Given the description of an element on the screen output the (x, y) to click on. 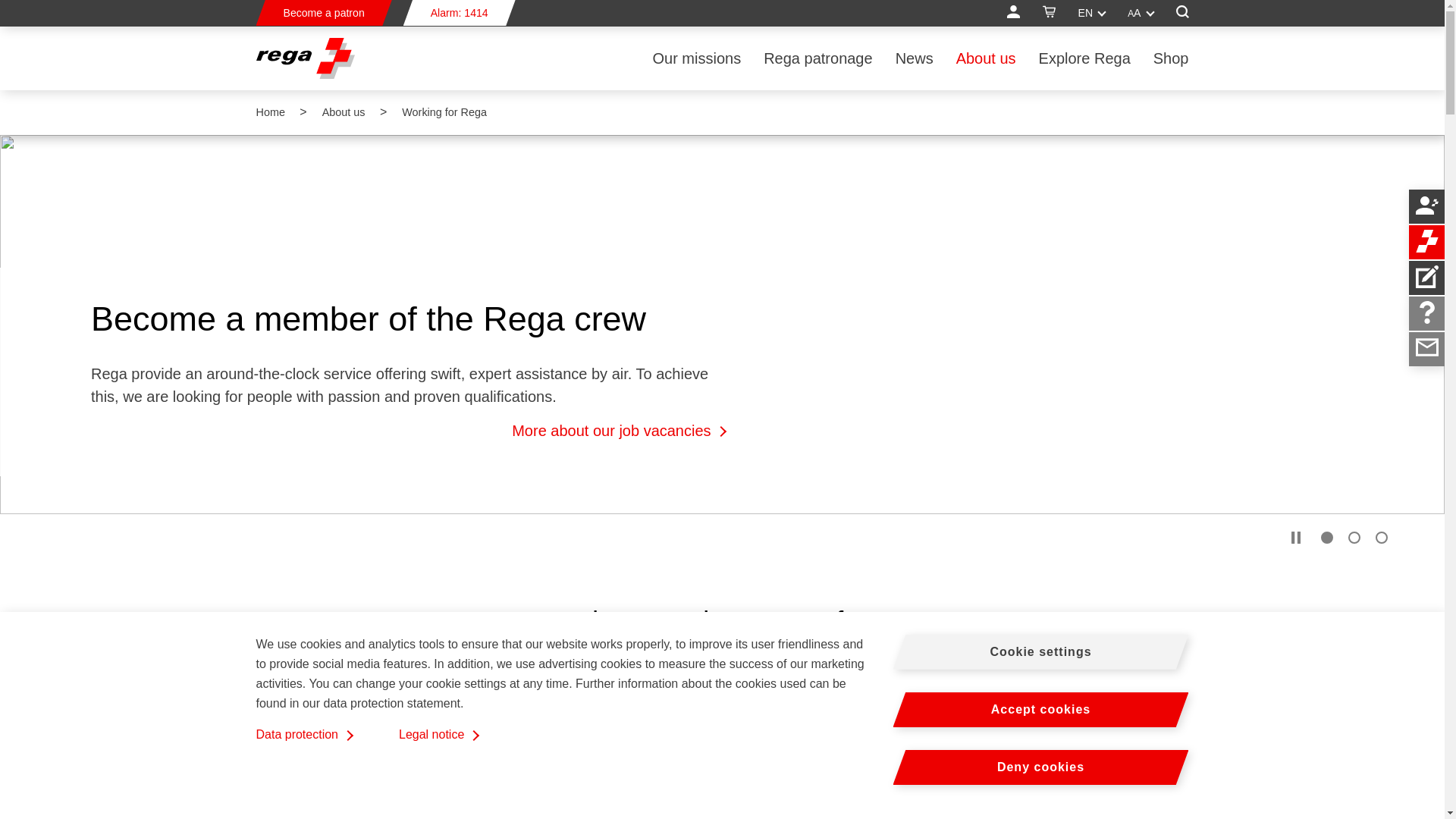
AA (1139, 13)
Questions and answers (1426, 312)
Deny cookies (1041, 767)
Working for Rega (443, 112)
Home (305, 58)
Accept cookies (1041, 709)
Rega Icon (1426, 241)
Cookie settings (1041, 651)
Mail Icon (1426, 346)
Change address (1426, 276)
Alarm: 1414 (459, 12)
Data protection (304, 734)
Home (269, 112)
Legal notice (438, 734)
